Given the description of an element on the screen output the (x, y) to click on. 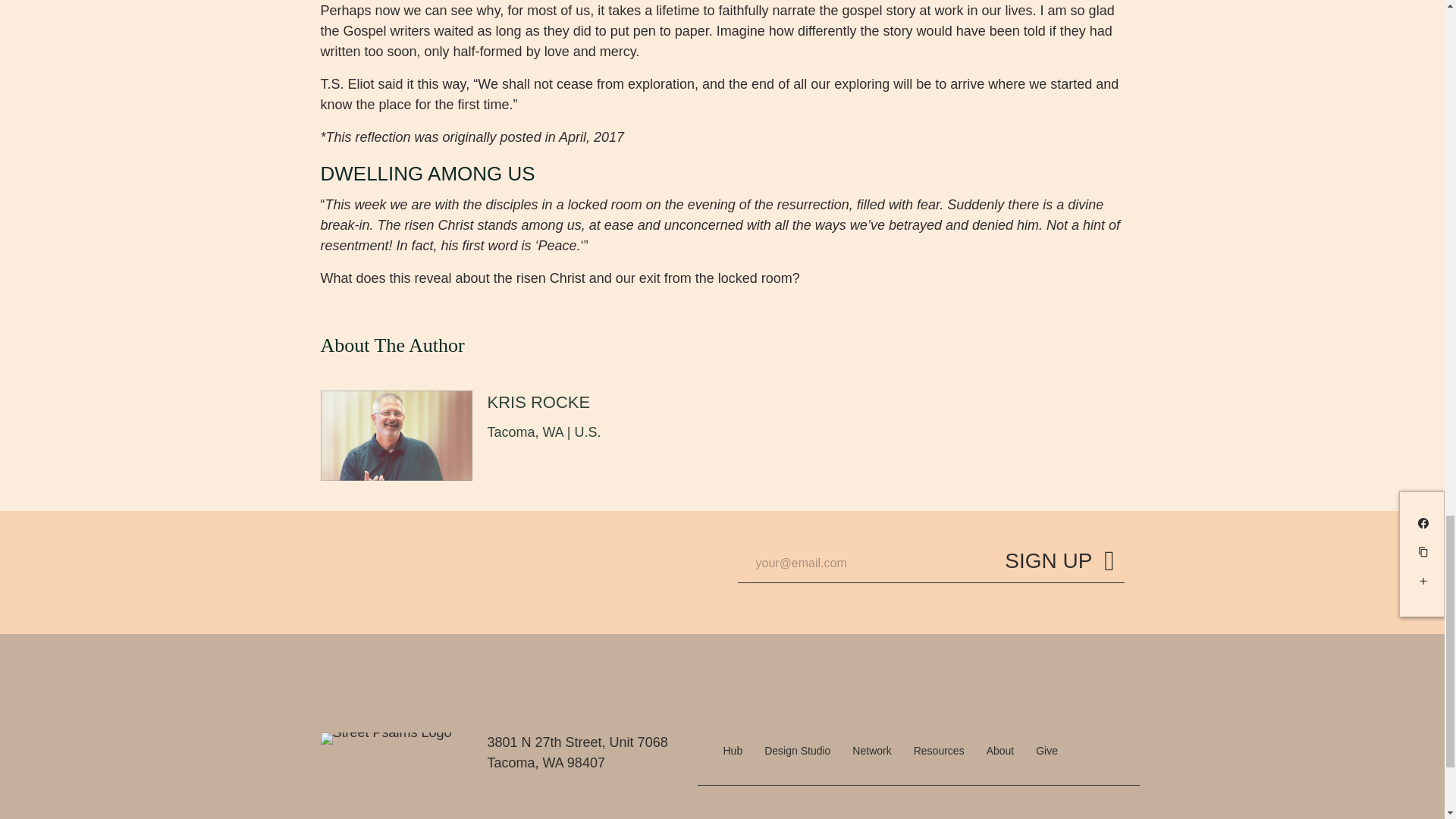
Network (871, 750)
Design Studio (797, 750)
Resources (938, 750)
Hub (733, 750)
SIGN UP (1059, 564)
